Given the description of an element on the screen output the (x, y) to click on. 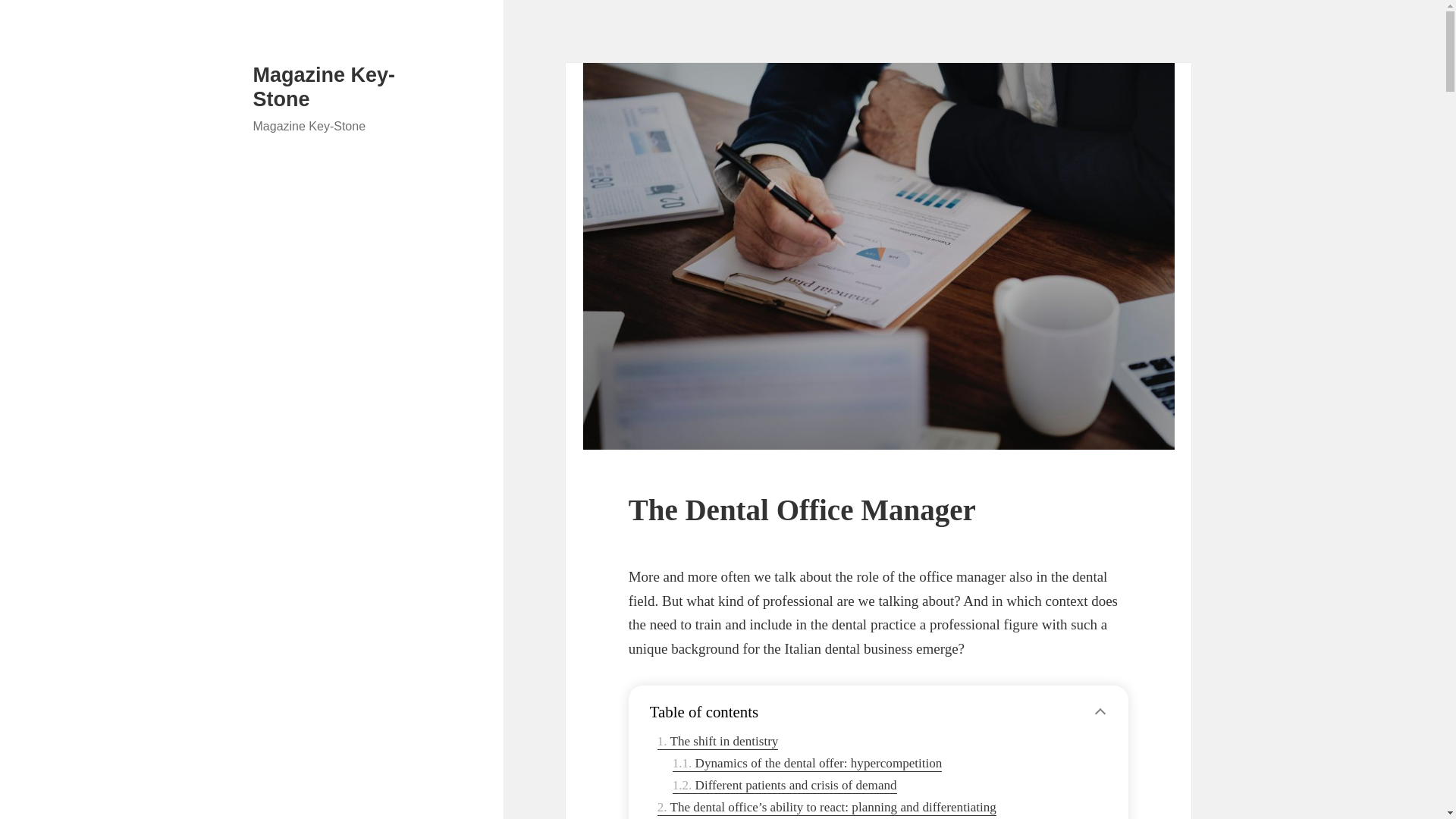
The shift in dentistry (718, 741)
Different patients and crisis of demand (784, 785)
Magazine Key-Stone (324, 86)
Dynamics of the dental offer: hypercompetition (807, 763)
Dynamics of the dental offer: hypercompetition (807, 763)
The shift in dentistry (718, 741)
Different patients and crisis of demand  (784, 785)
